Given the description of an element on the screen output the (x, y) to click on. 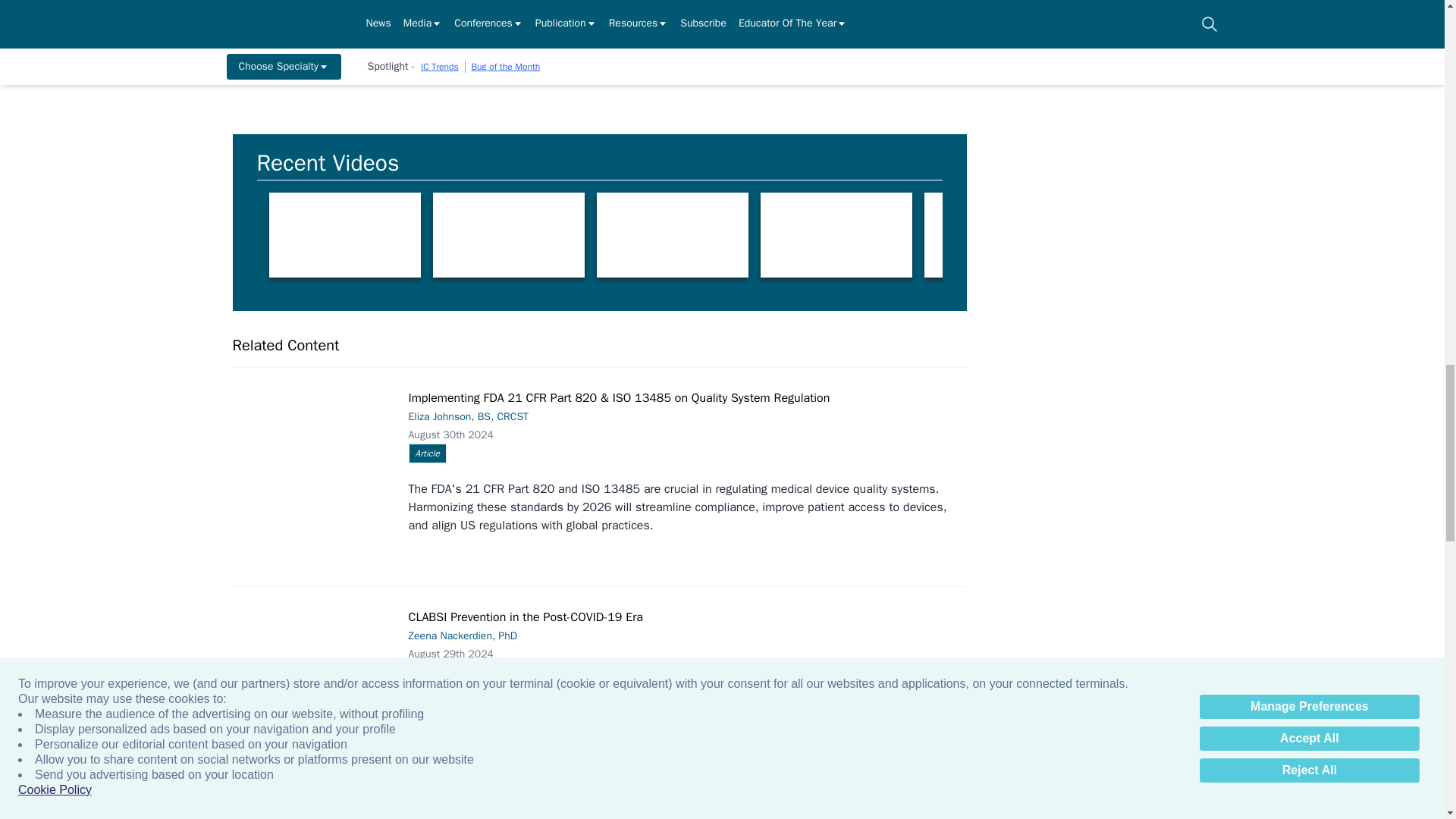
Weekly Rounds with Infection Control Today (507, 235)
David Levine, PhD, DPT, MPH, FAPTA (343, 235)
